Given the description of an element on the screen output the (x, y) to click on. 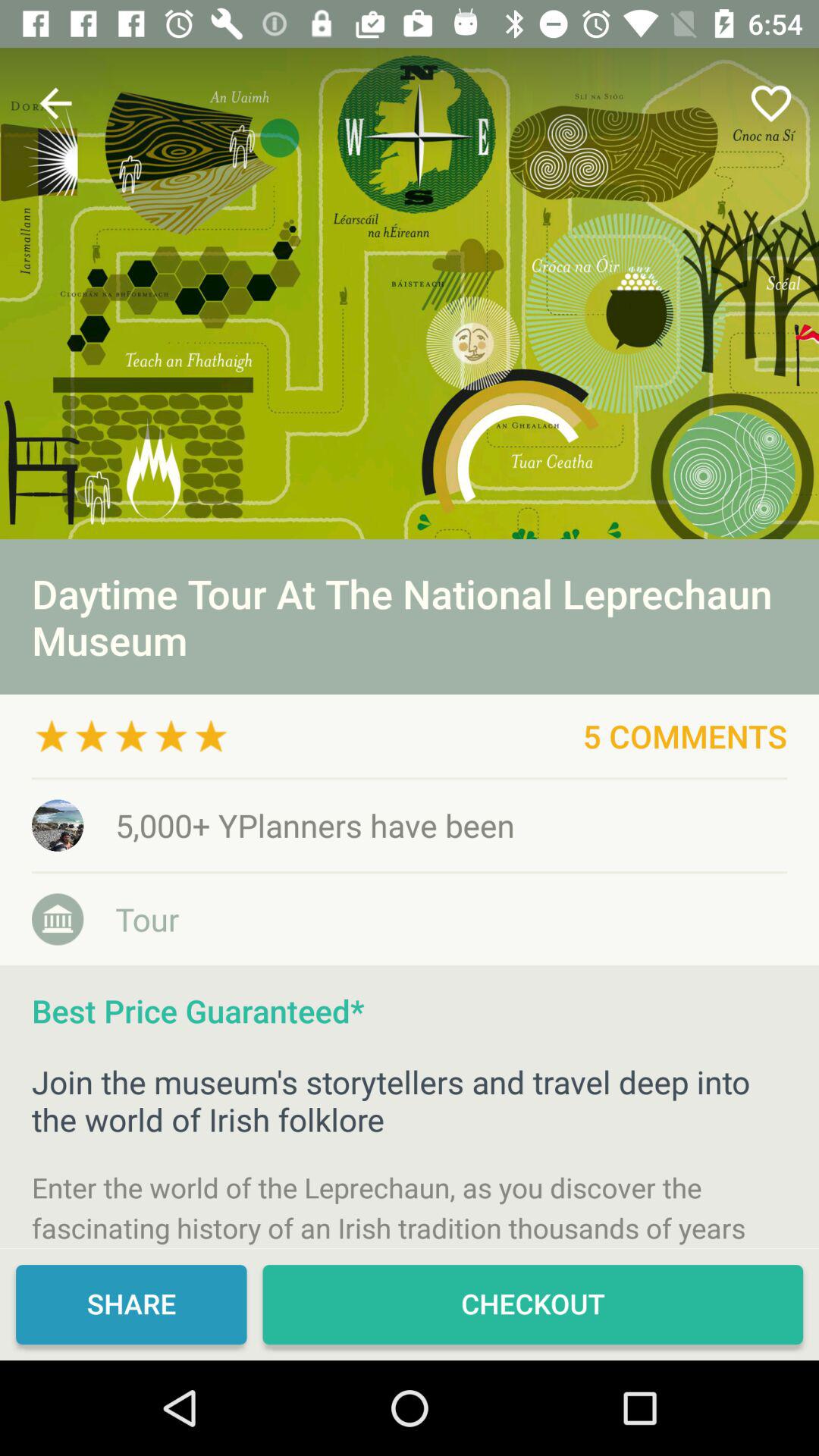
choose icon at the top right corner (771, 103)
